Given the description of an element on the screen output the (x, y) to click on. 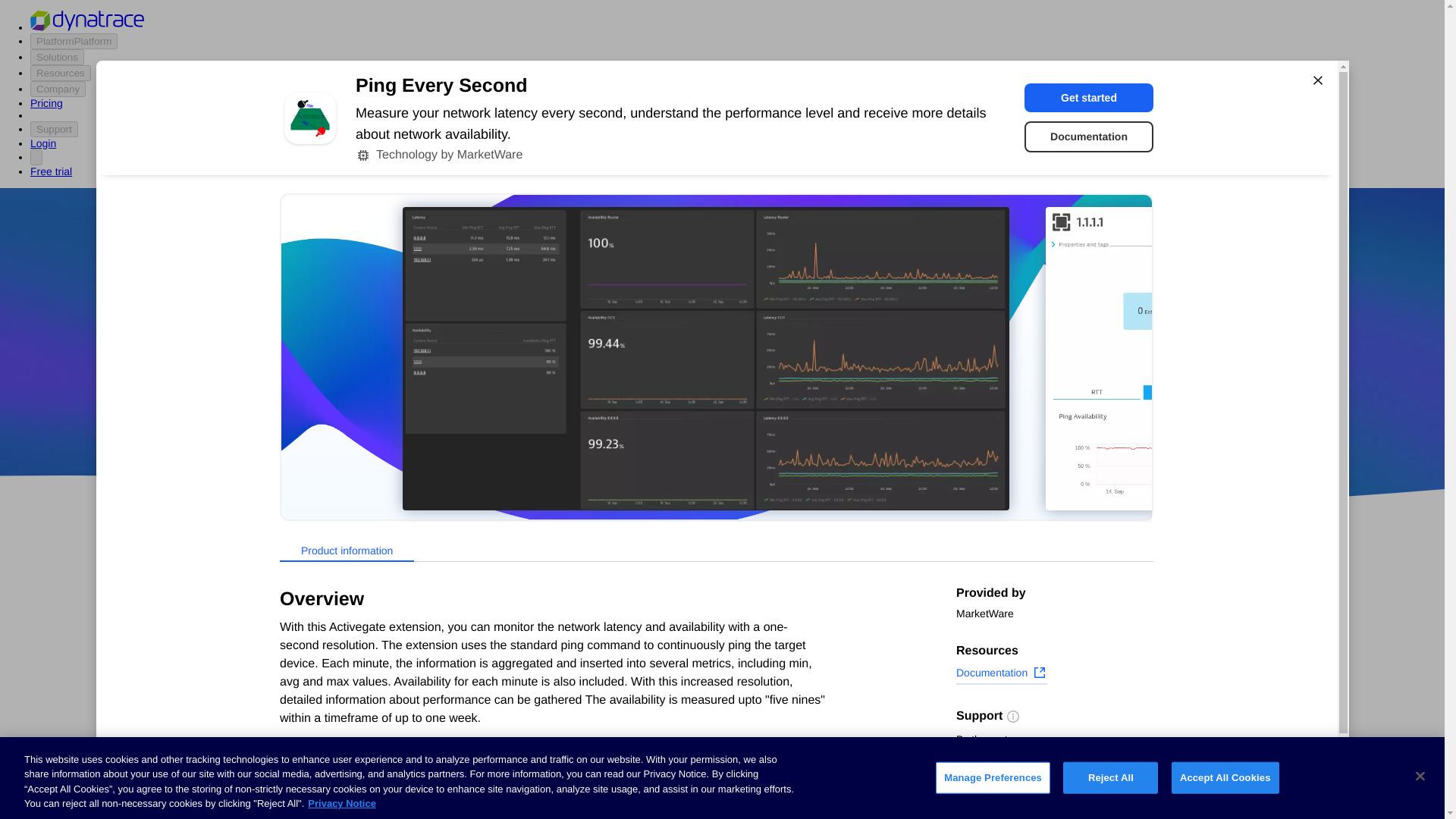
Google Cloud (751, 418)
Azure (681, 418)
Kubernetes (295, 755)
Certified Partners (309, 612)
Infrastructure Observability (335, 809)
Build your own app (314, 669)
DevOps (829, 418)
Request support (1005, 761)
Get started (1089, 97)
AWS (637, 418)
